Given the description of an element on the screen output the (x, y) to click on. 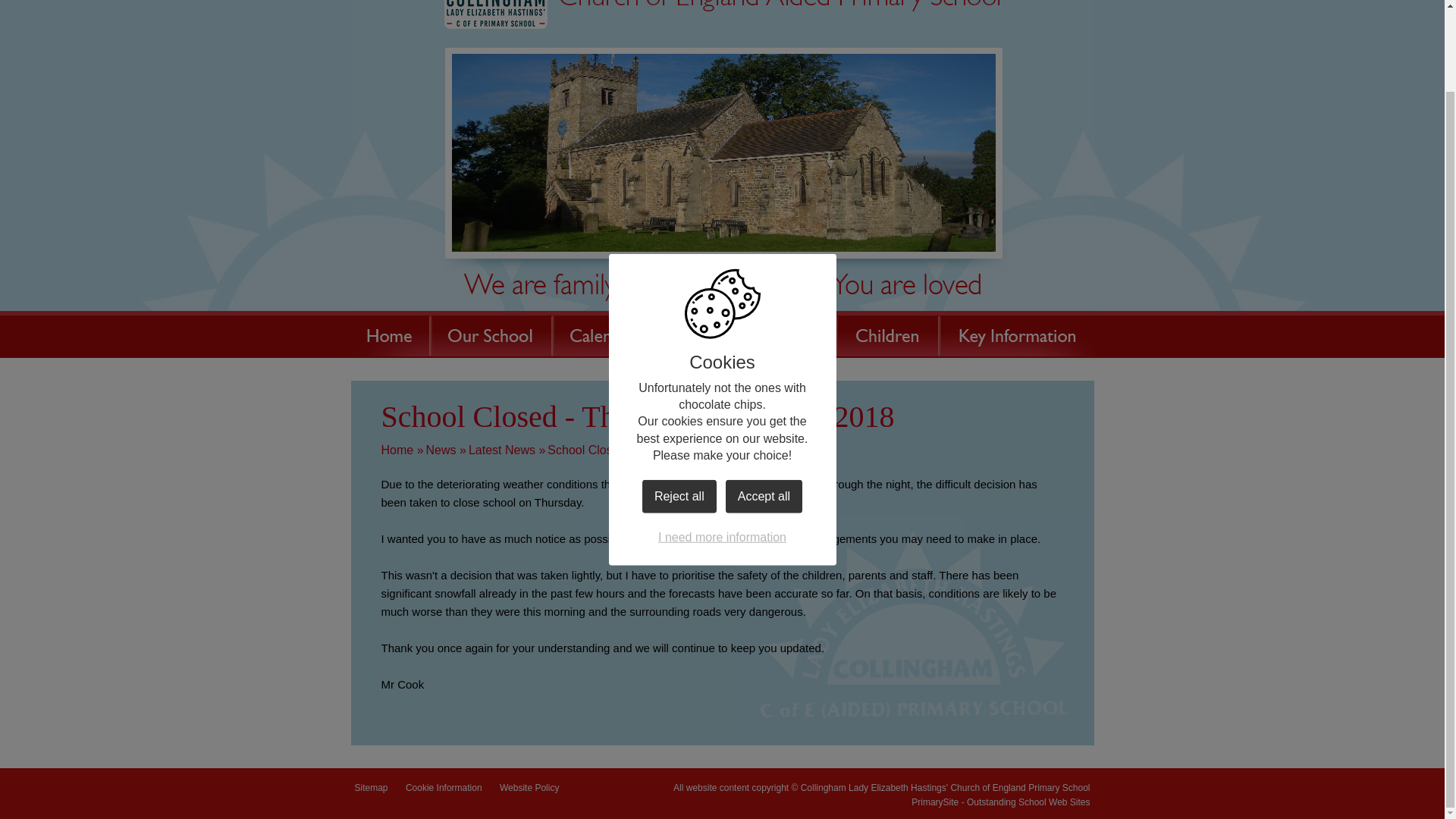
Home (396, 449)
Our School (490, 333)
Home Page (721, 14)
School Closed - Thursday 1st March 2018 (660, 449)
Home (389, 333)
Home Page (721, 14)
News (441, 449)
Latest News (501, 449)
